Given the description of an element on the screen output the (x, y) to click on. 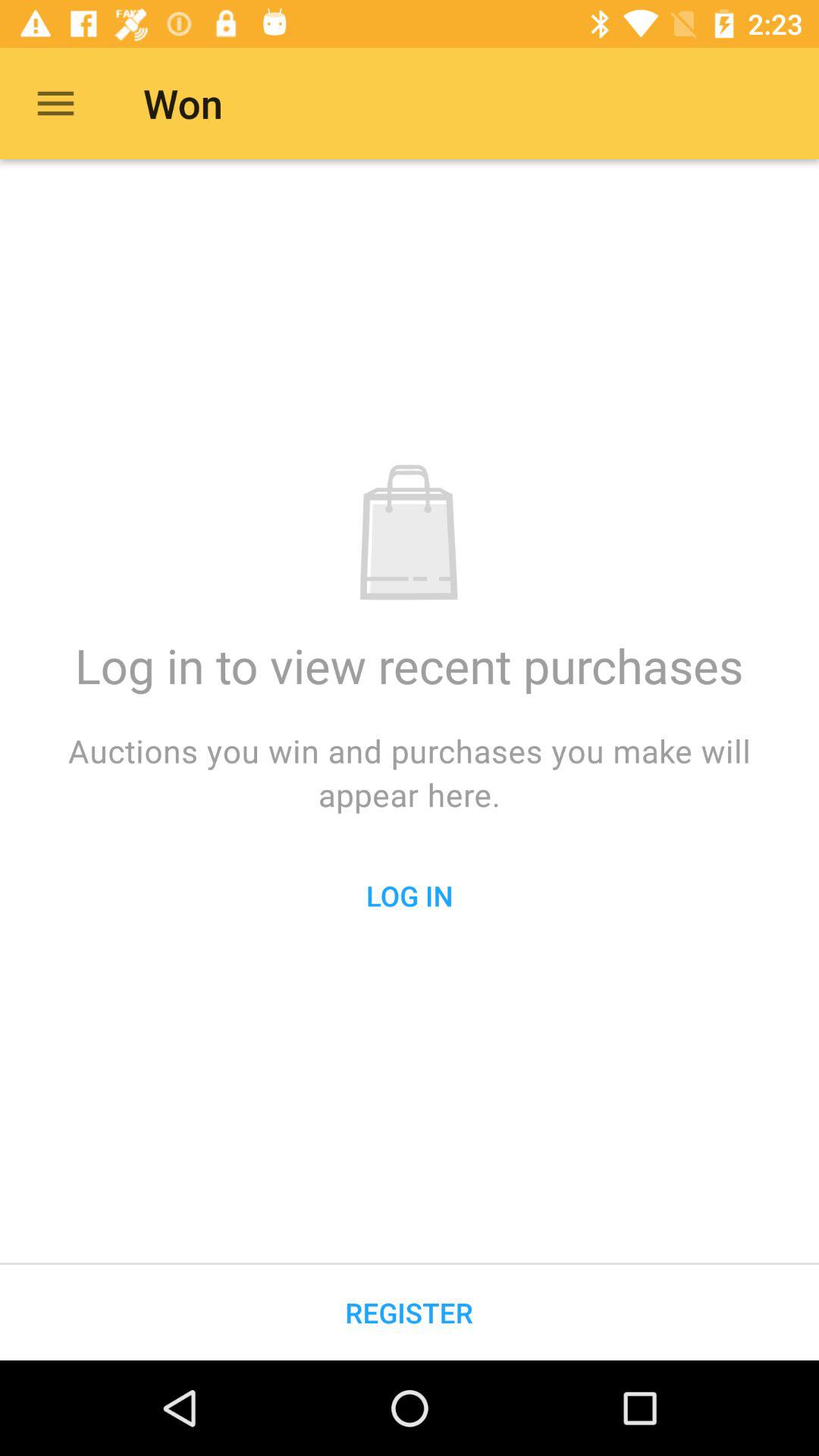
flip to the register icon (408, 1312)
